Given the description of an element on the screen output the (x, y) to click on. 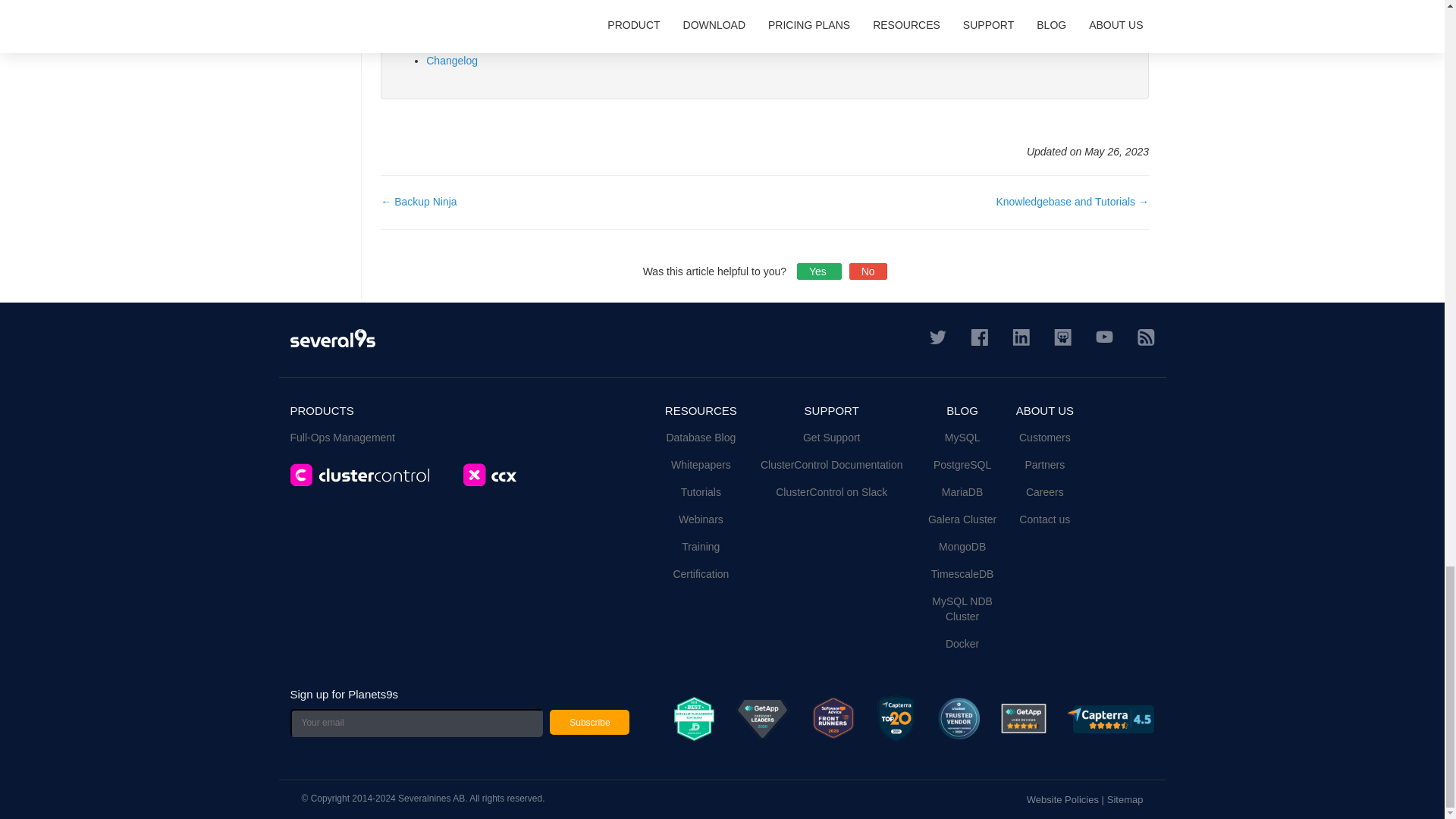
Read ClusterControl Reviews on GetApp.com (762, 718)
Visit Severalnines on LinkedIn (1020, 336)
The Best Database Management Software (694, 718)
Subscribe to  via RSS (1145, 336)
Visit Severalnines on SlideShare (1062, 336)
Visit Severalnines on Twitter (938, 336)
Subscribe (589, 722)
No votes yet (818, 271)
Category Leaders Badge (1023, 718)
Frontrunners Badge (833, 718)
